Given the description of an element on the screen output the (x, y) to click on. 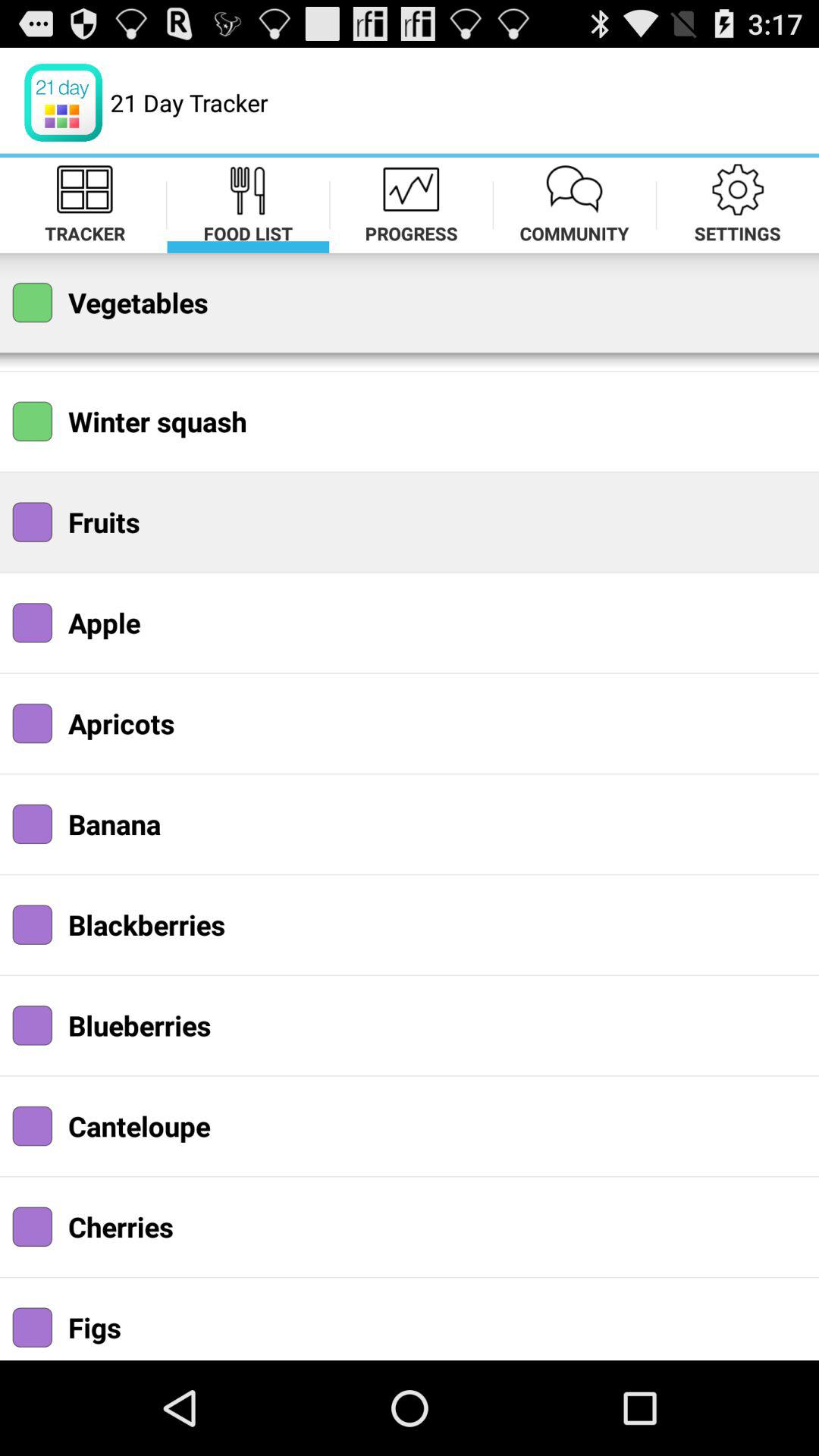
select the icon above the tab tracker on the web page (85, 189)
click on the icon above the community (574, 189)
click on the checkbox left to the apple (32, 622)
